Given the description of an element on the screen output the (x, y) to click on. 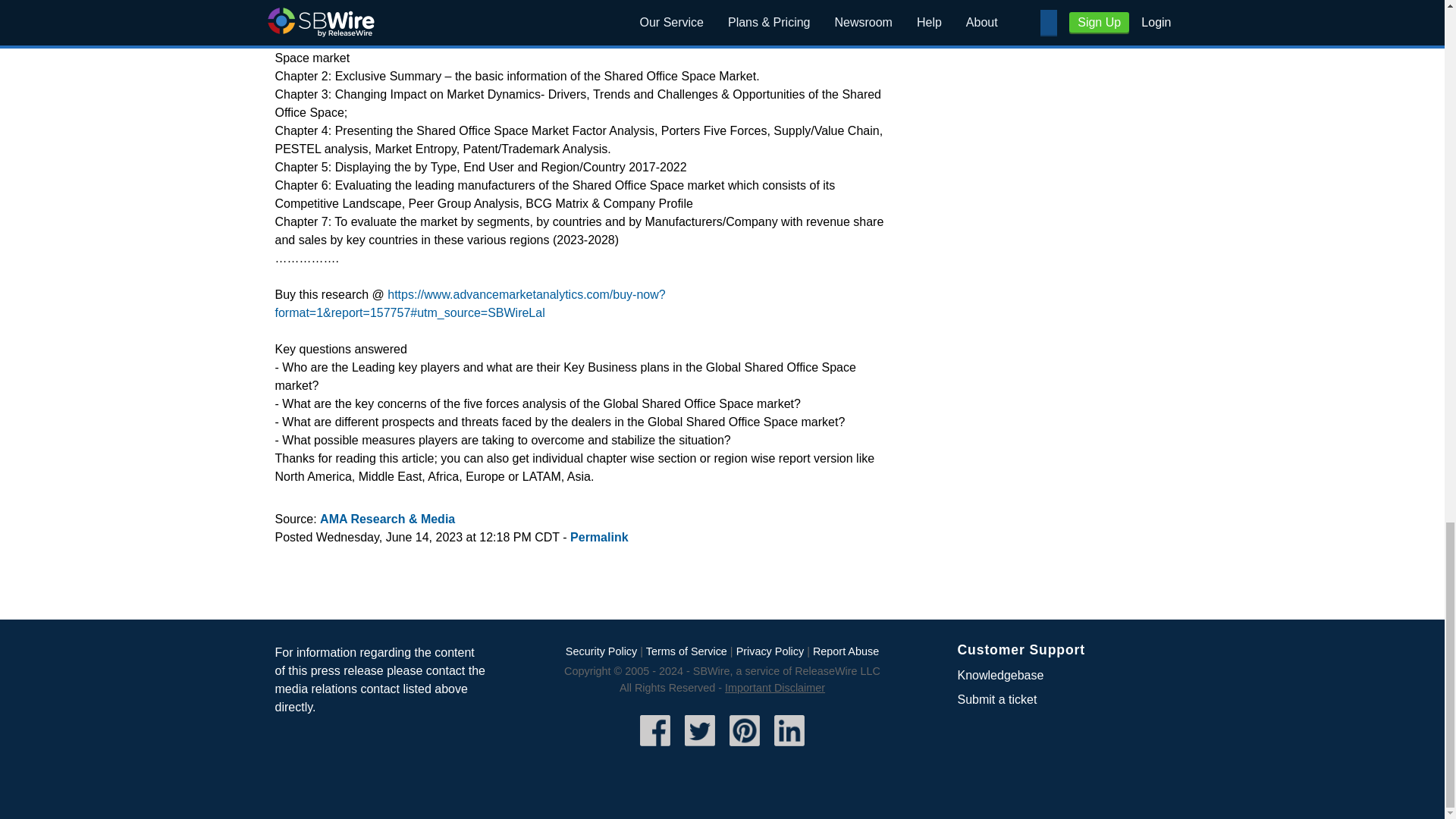
Find SBWire on Facebook (655, 747)
Follow SBWire on Twitter (699, 747)
Important Disclaimer (775, 687)
Terms of Service (686, 651)
Privacy Policy (770, 651)
Report Abuse (845, 651)
Security Policy (601, 651)
Follow SBWire on LinkedIn (788, 747)
Visit SBWire on Pinterest (744, 747)
Permalink (598, 536)
